Given the description of an element on the screen output the (x, y) to click on. 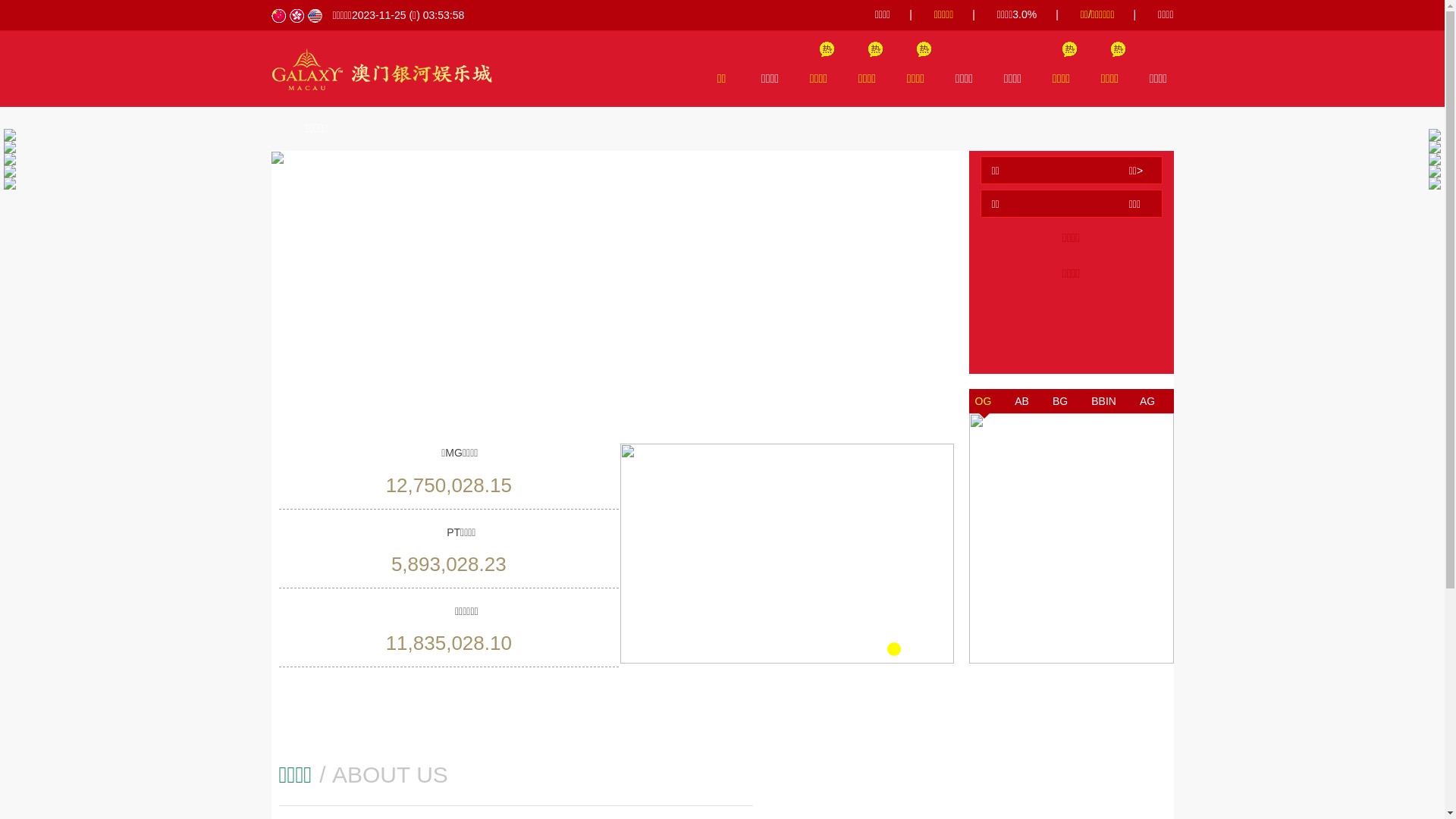
OG Element type: text (983, 401)
AB Element type: text (1021, 401)
BBIN Element type: text (1103, 401)
BG Element type: text (1059, 401)
AG Element type: text (1147, 401)
